Given the description of an element on the screen output the (x, y) to click on. 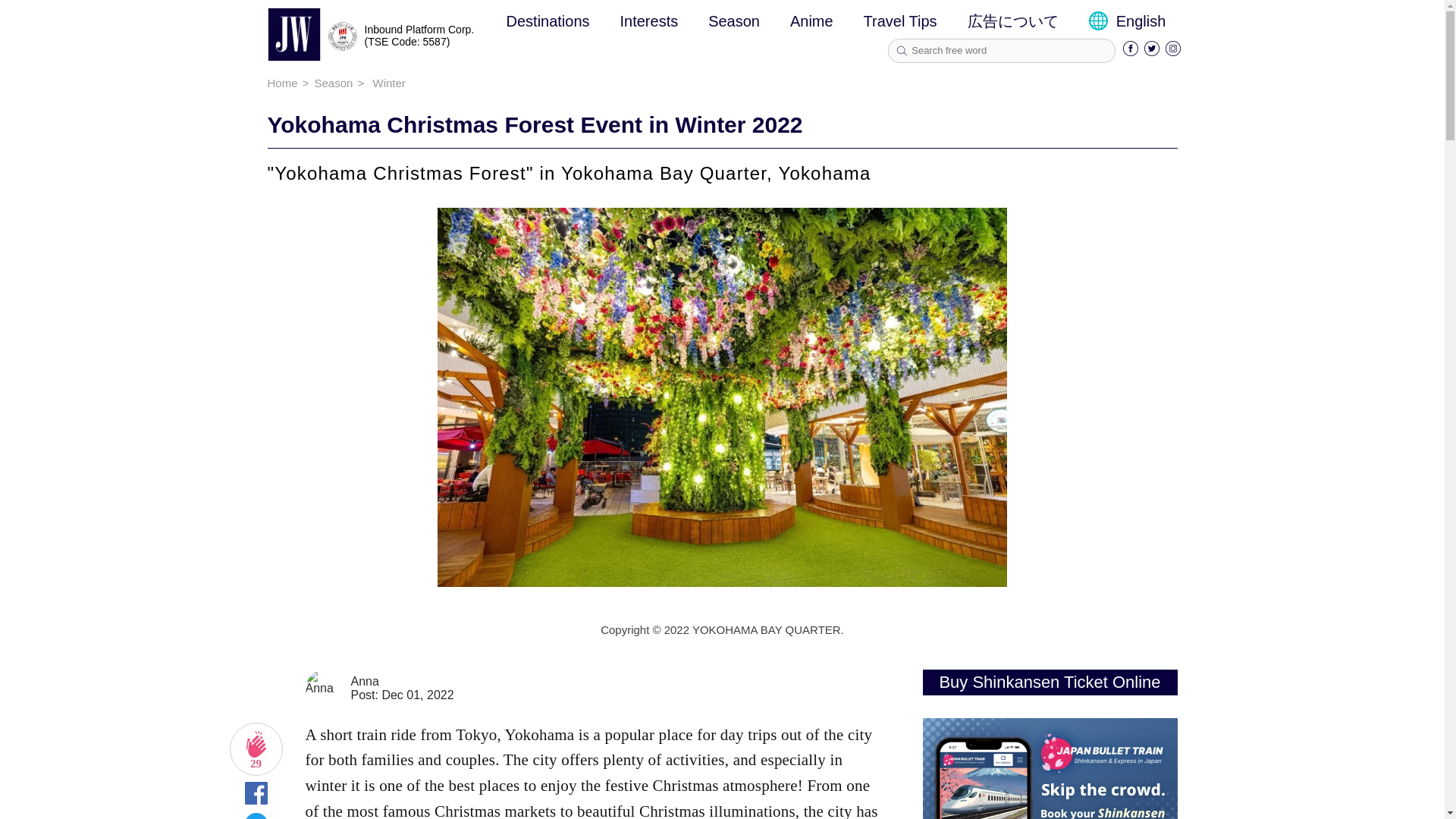
  English (1127, 20)
Submit (901, 50)
Home (281, 82)
Season (733, 20)
Twitter (1151, 51)
Interests (649, 20)
Share to Facebook (255, 799)
Destinations (547, 20)
Travel Tips (900, 20)
Facebook (1130, 51)
